Given the description of an element on the screen output the (x, y) to click on. 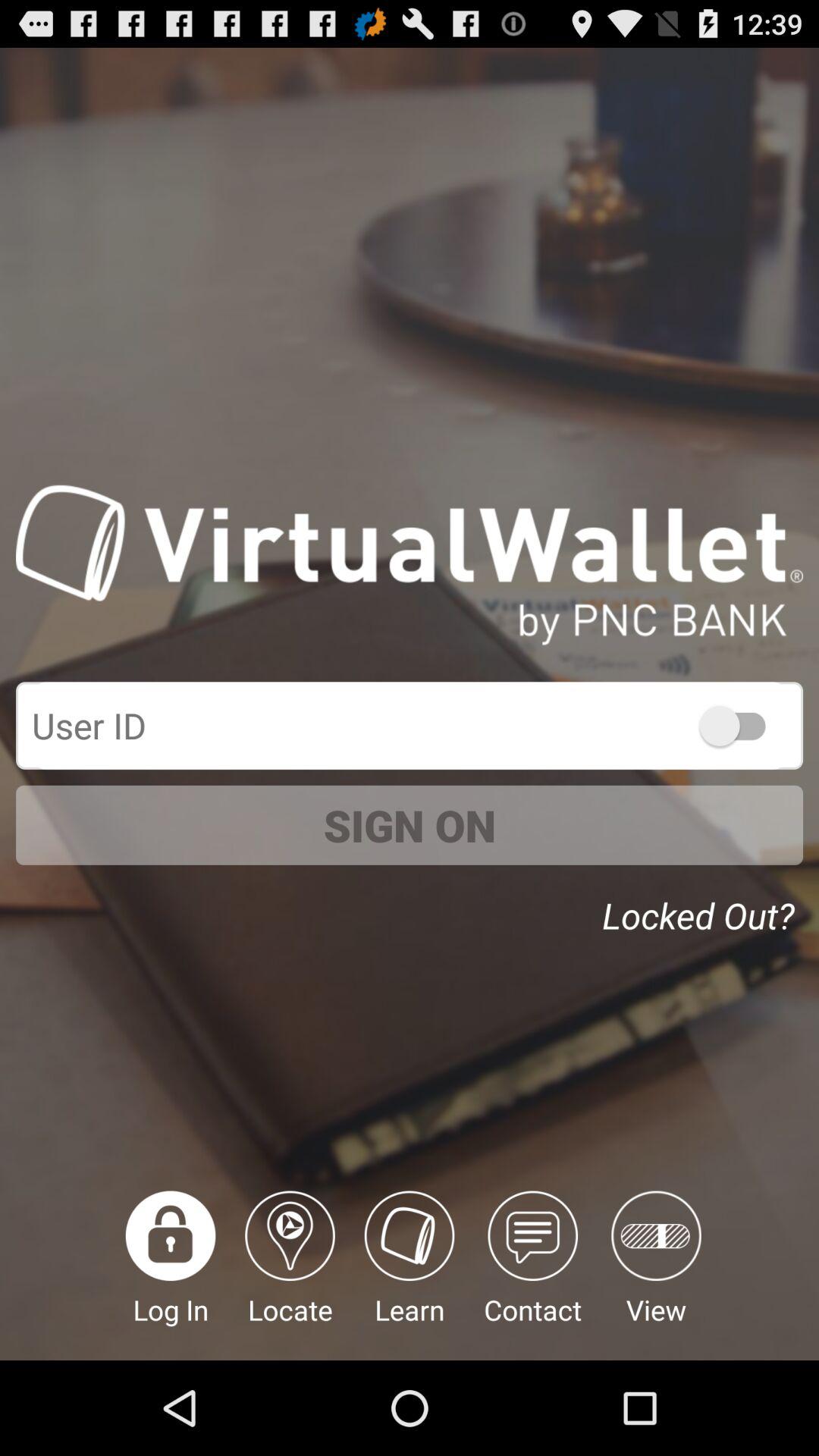
turn off icon next to the view icon (532, 1275)
